Given the description of an element on the screen output the (x, y) to click on. 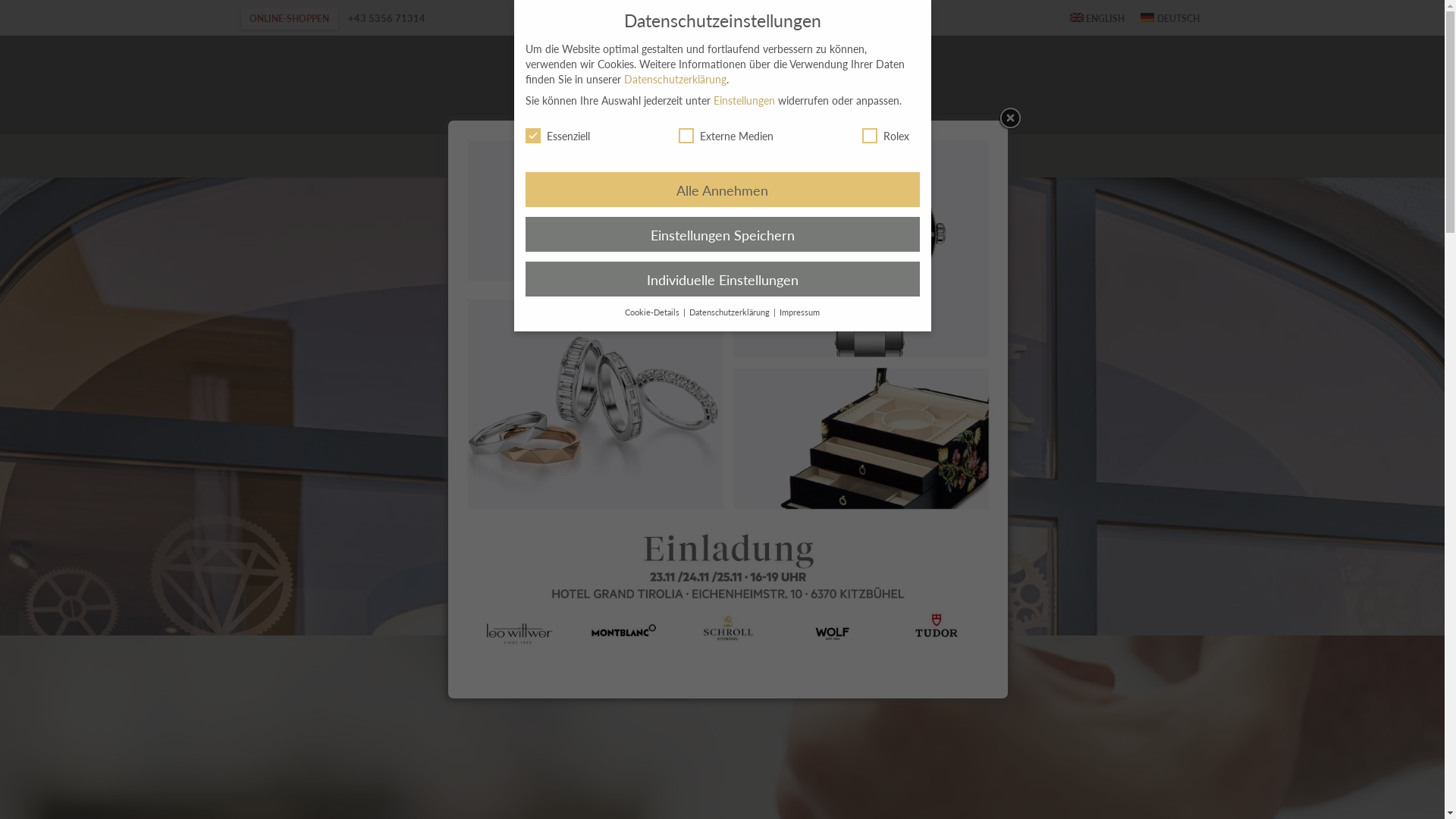
Cookie-Details Element type: text (652, 311)
EVENTS Element type: text (870, 155)
ONLINE-SHOPPEN Element type: text (289, 18)
ENGLISH Element type: text (1096, 17)
Alle Annehmen Element type: text (721, 189)
MARKEN Element type: text (750, 155)
KOLLEKTIONEN Element type: text (654, 155)
+43 5356 71314 Element type: text (386, 17)
KONTAKT Element type: text (937, 155)
Impressum Element type: text (799, 311)
  Element type: text (1052, 17)
DEUTSCH Element type: text (1170, 17)
Einstellungen Speichern Element type: text (721, 233)
   Element type: text (1179, 86)
Individuelle Einstellungen Element type: text (721, 278)
Einstellungen Element type: text (743, 99)
ROLEX Element type: text (812, 155)
